Given the description of an element on the screen output the (x, y) to click on. 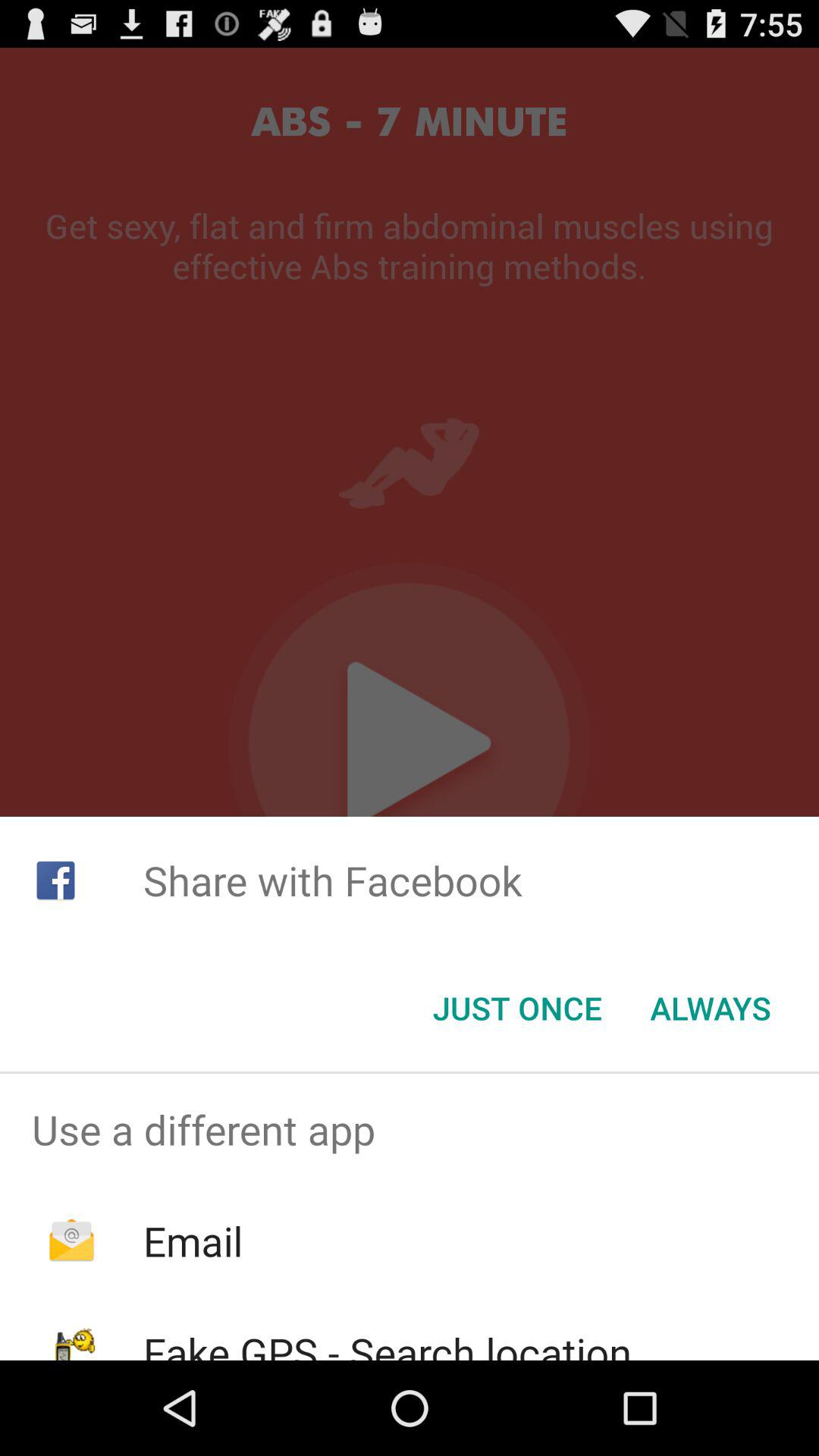
click icon below the email icon (387, 1342)
